Given the description of an element on the screen output the (x, y) to click on. 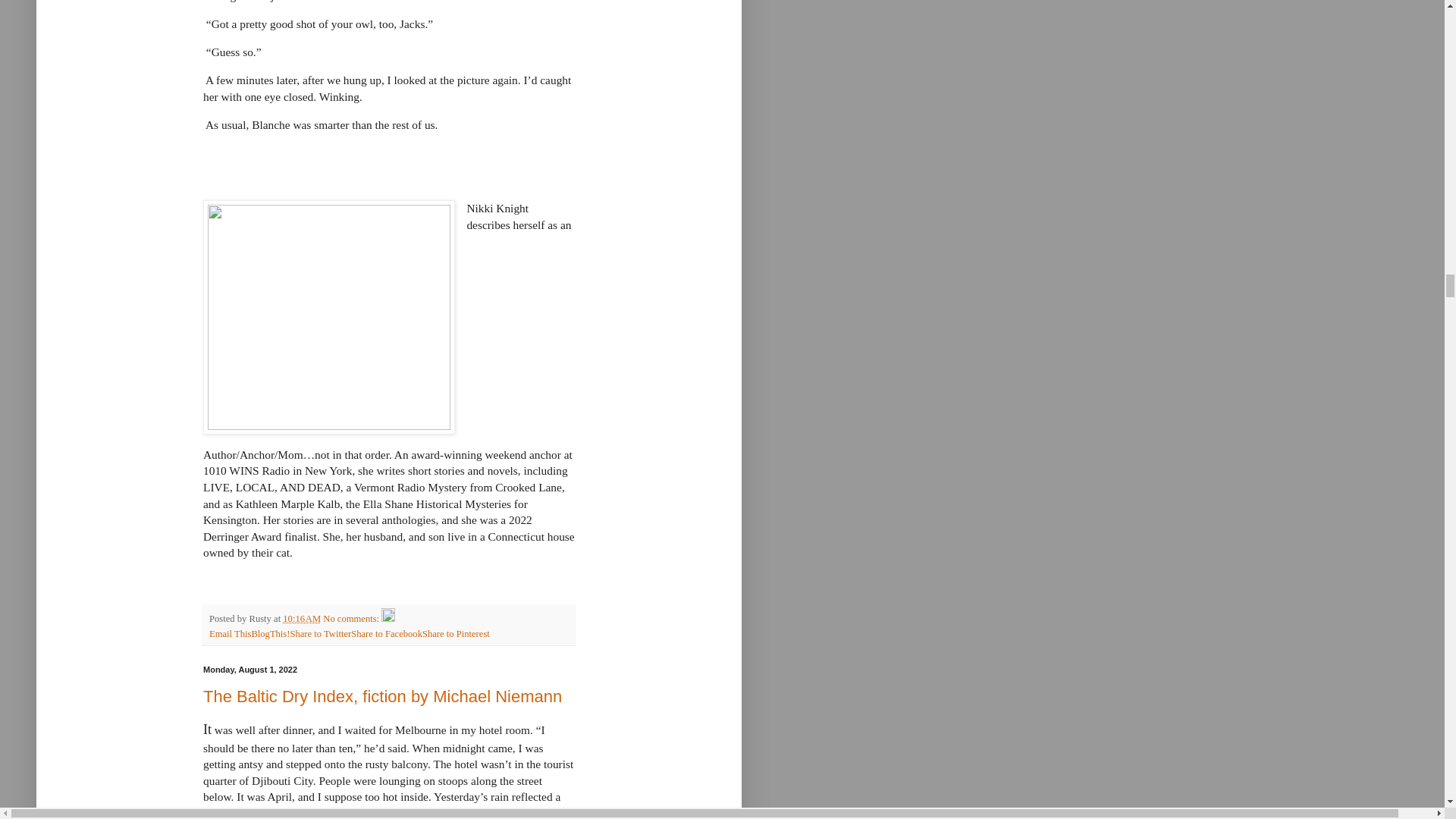
The Baltic Dry Index, fiction by Michael Niemann (382, 696)
Share to Facebook (386, 633)
Edit Post (387, 618)
No comments: (352, 618)
Share to Twitter (319, 633)
BlogThis! (269, 633)
Share to Twitter (319, 633)
Email This (229, 633)
Email This (229, 633)
Share to Facebook (386, 633)
permanent link (301, 618)
Share to Pinterest (455, 633)
Share to Pinterest (455, 633)
BlogThis! (269, 633)
